Given the description of an element on the screen output the (x, y) to click on. 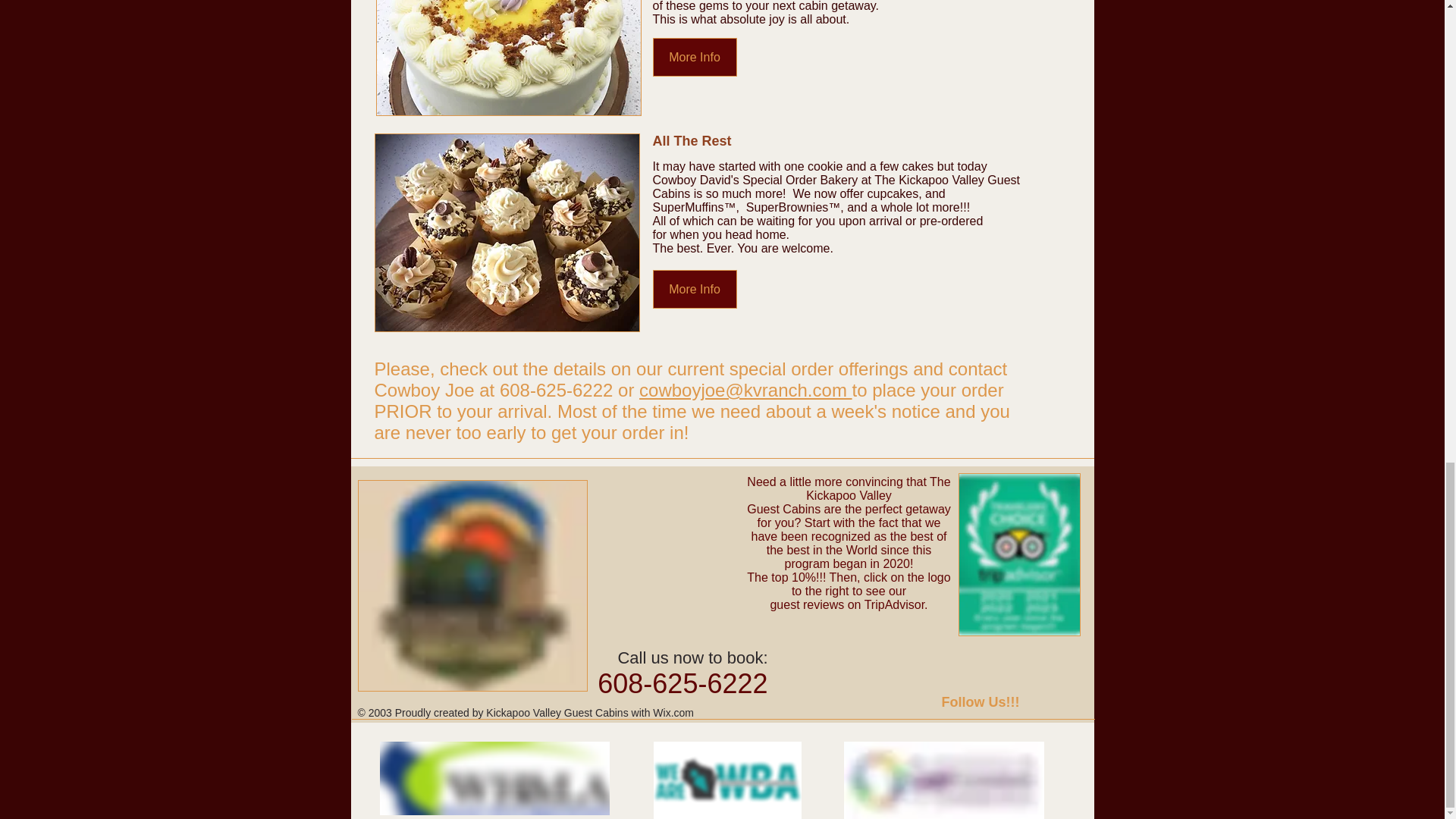
More Info (694, 56)
Wix.com (673, 712)
More Info (694, 289)
